Given the description of an element on the screen output the (x, y) to click on. 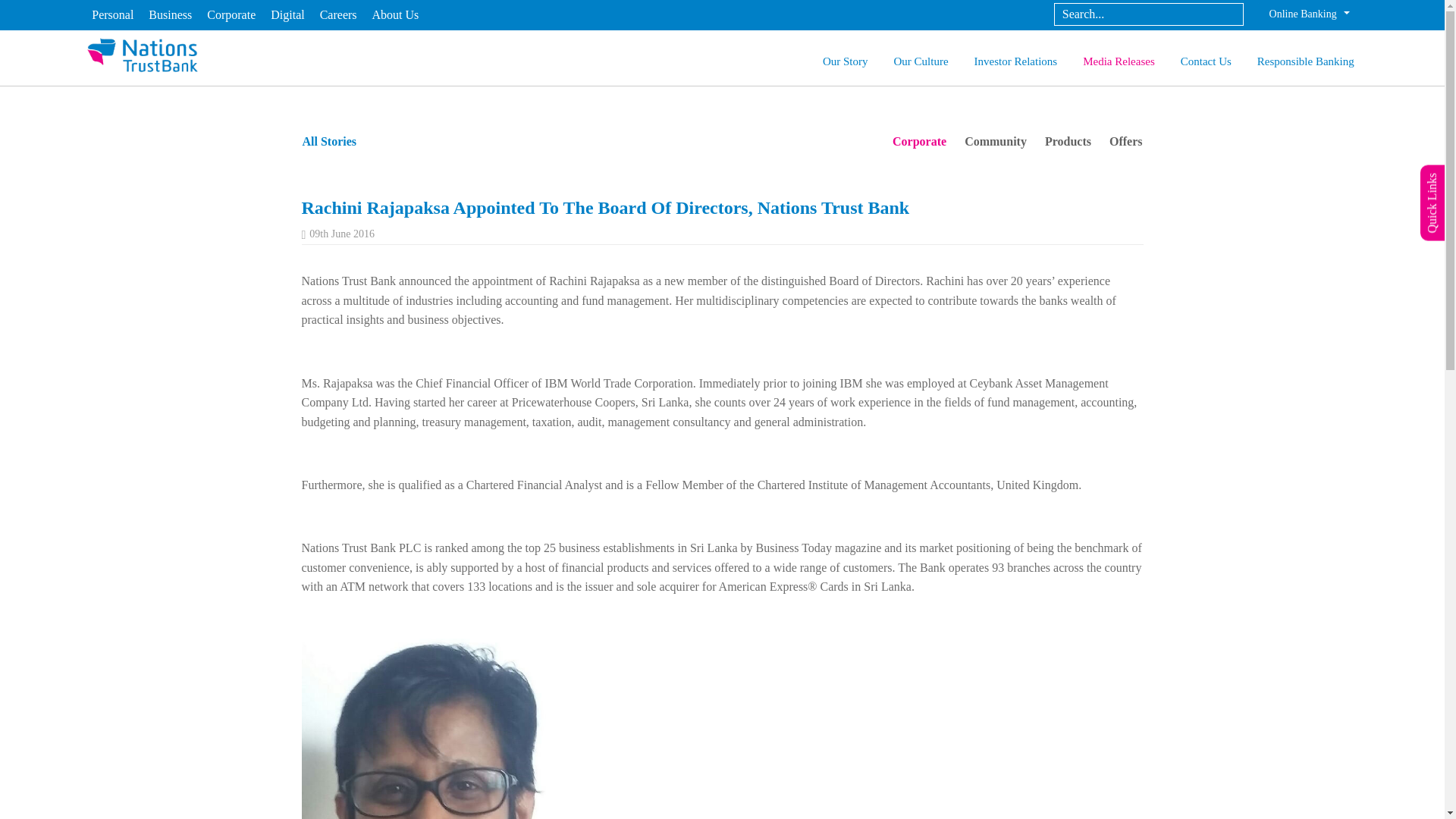
Offers (1126, 141)
Corporate (919, 141)
Our Story (844, 63)
Responsible Banking (1305, 63)
Online Banking (1309, 13)
Our Culture (920, 63)
Products (1067, 141)
Community (994, 141)
Media Releases (1118, 63)
All Stories (328, 141)
Investor Relations (1015, 63)
Contact Us (1206, 63)
